Given the description of an element on the screen output the (x, y) to click on. 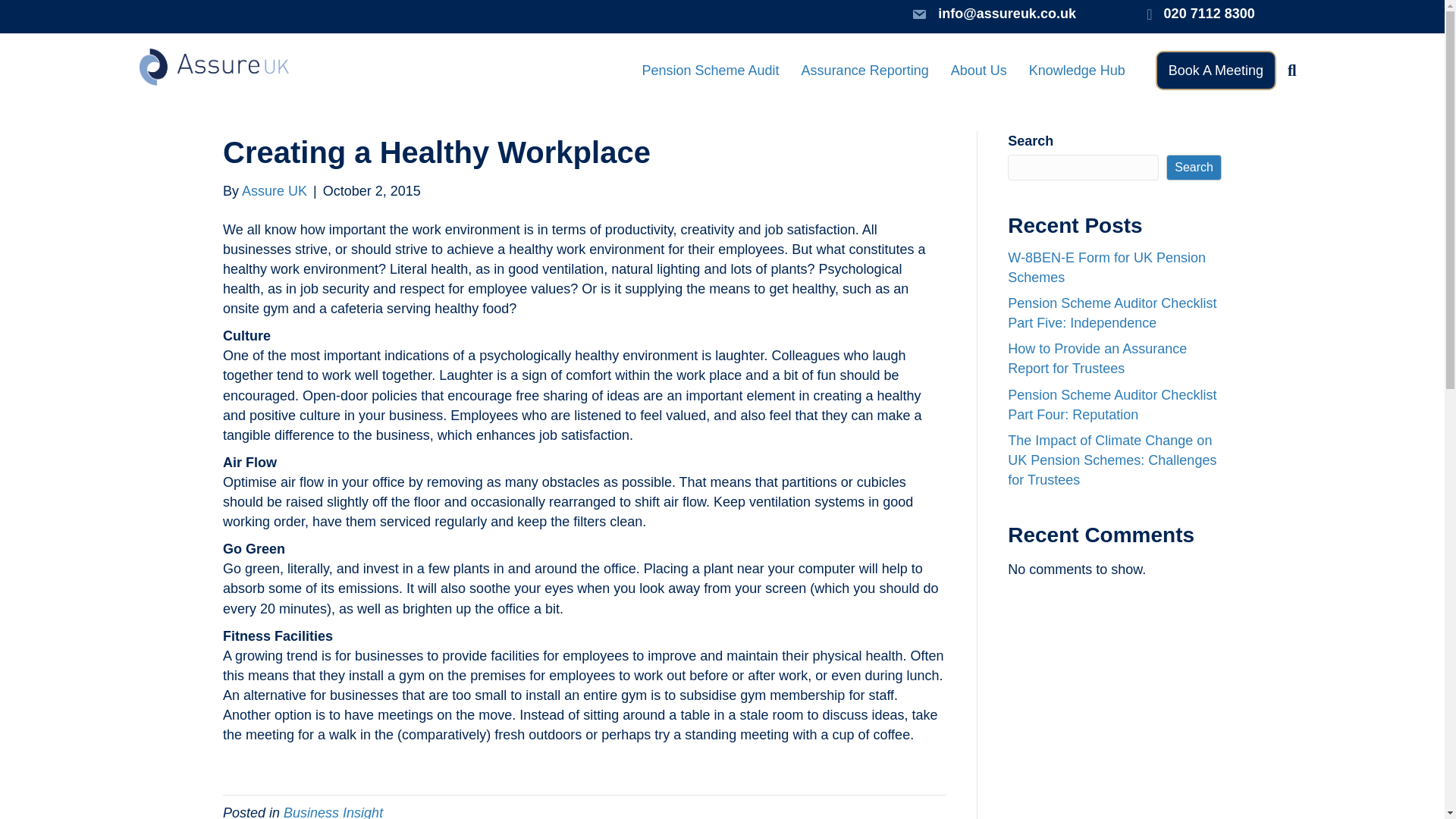
How to Provide an Assurance Report for Trustees (1096, 358)
Pension Scheme Auditor Checklist Part Four: Reputation (1111, 404)
Pension Scheme Auditor Checklist Part Five: Independence (1111, 312)
W-8BEN-E Form for UK Pension Schemes (1106, 267)
Search (1193, 167)
Book A Meeting (1216, 70)
Assurance Reporting (864, 70)
Knowledge Hub (1076, 70)
Search (1294, 70)
Pension Scheme Audit (709, 70)
